Given the description of an element on the screen output the (x, y) to click on. 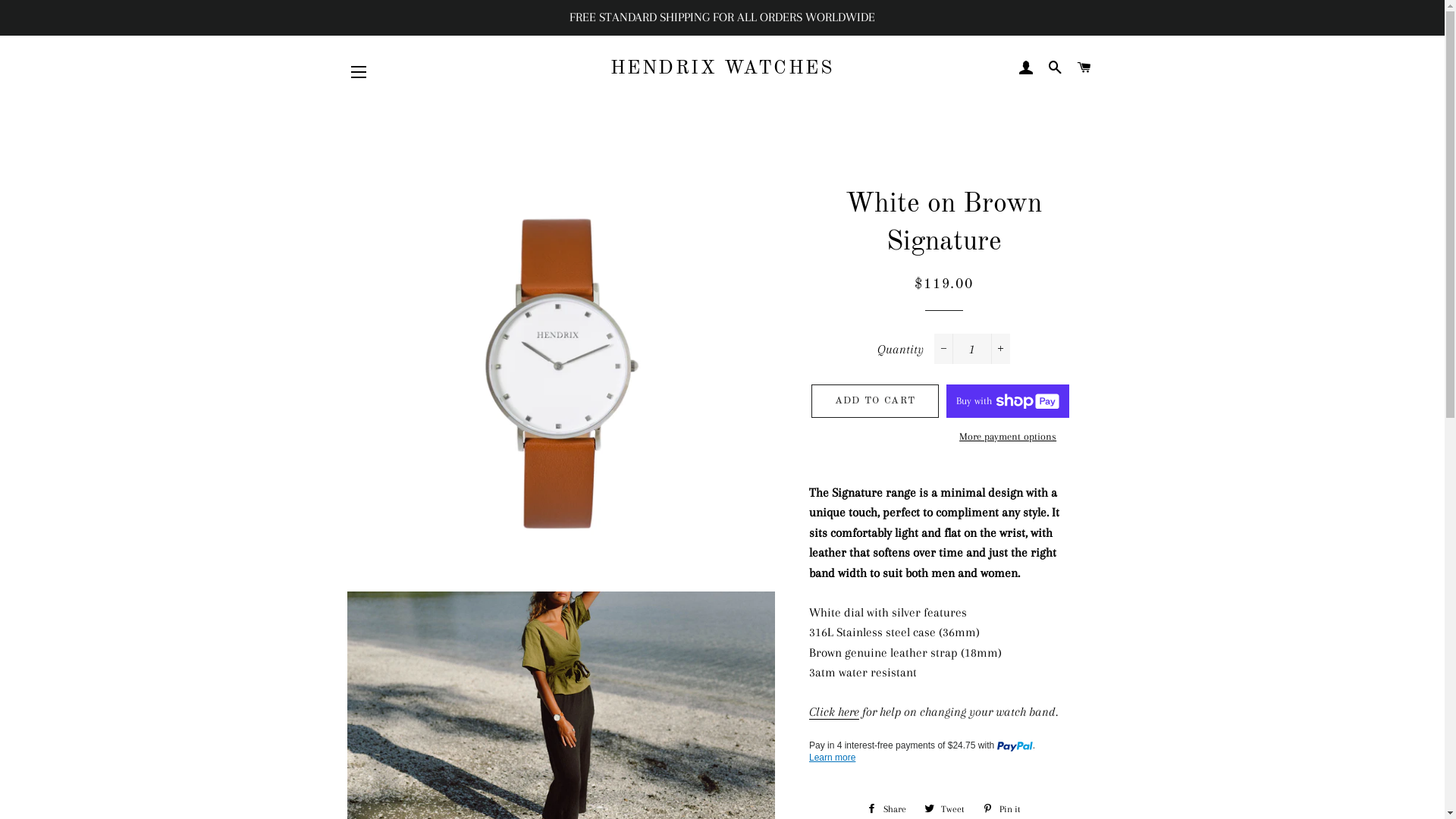
CART Element type: text (1084, 69)
ADD TO CART Element type: text (874, 400)
+ Element type: text (1000, 348)
PayPal Message 1 Element type: hover (943, 752)
Click here Element type: text (834, 711)
LOG IN Element type: text (1025, 69)
SEARCH Element type: text (1055, 69)
SITE NAVIGATION Element type: text (358, 72)
More payment options Element type: text (1007, 436)
HENDRIX WATCHES Element type: text (721, 68)
